Given the description of an element on the screen output the (x, y) to click on. 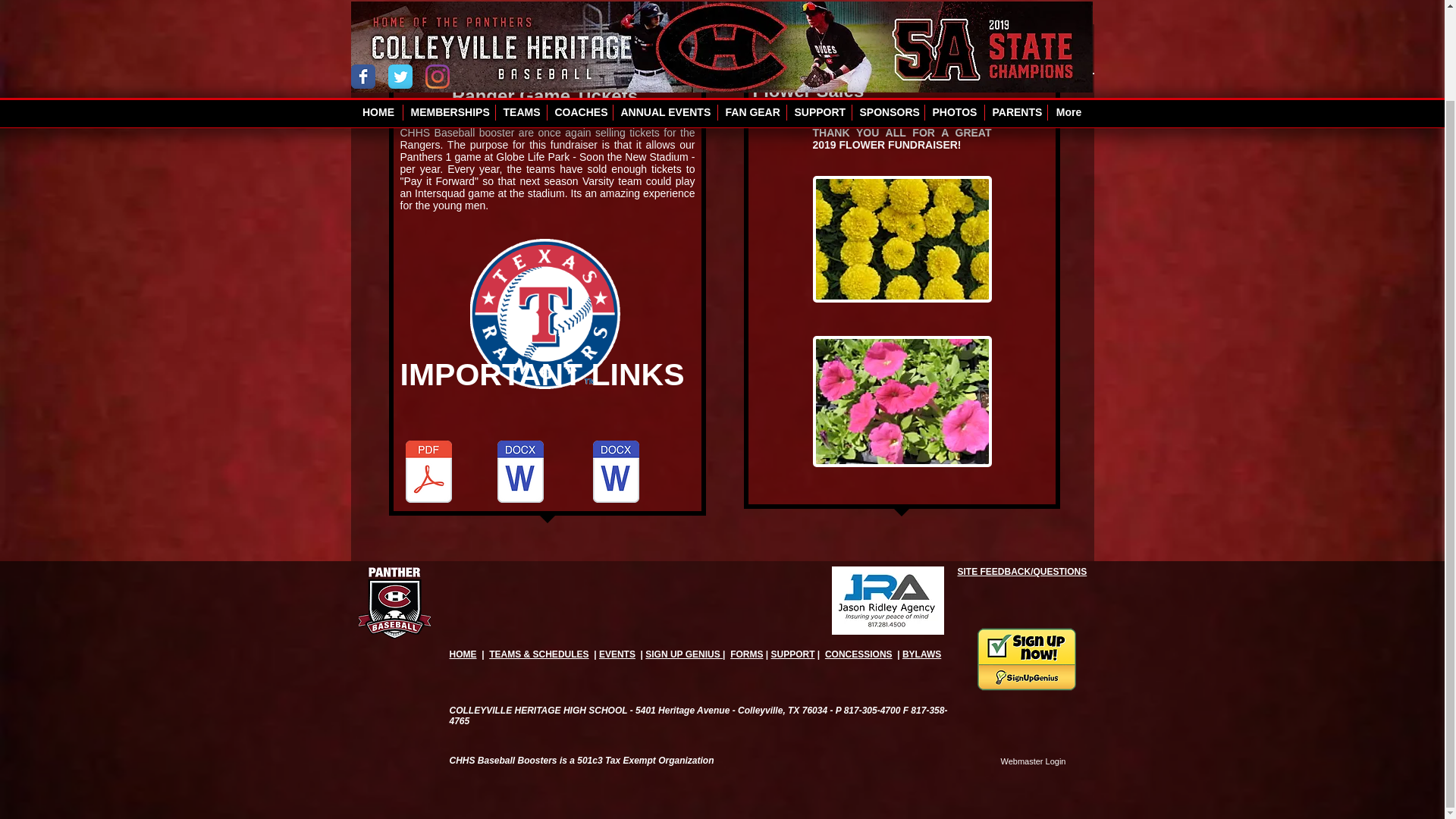
CONCESSIONS (858, 654)
EVENTS (616, 654)
TEAMS (521, 8)
BYLAWS (921, 654)
HOME (462, 654)
HOME (379, 8)
SPONSORS (887, 8)
PARENTS (1015, 8)
PHOTOS (954, 8)
ANNUAL EVENTS (664, 8)
